Given the description of an element on the screen output the (x, y) to click on. 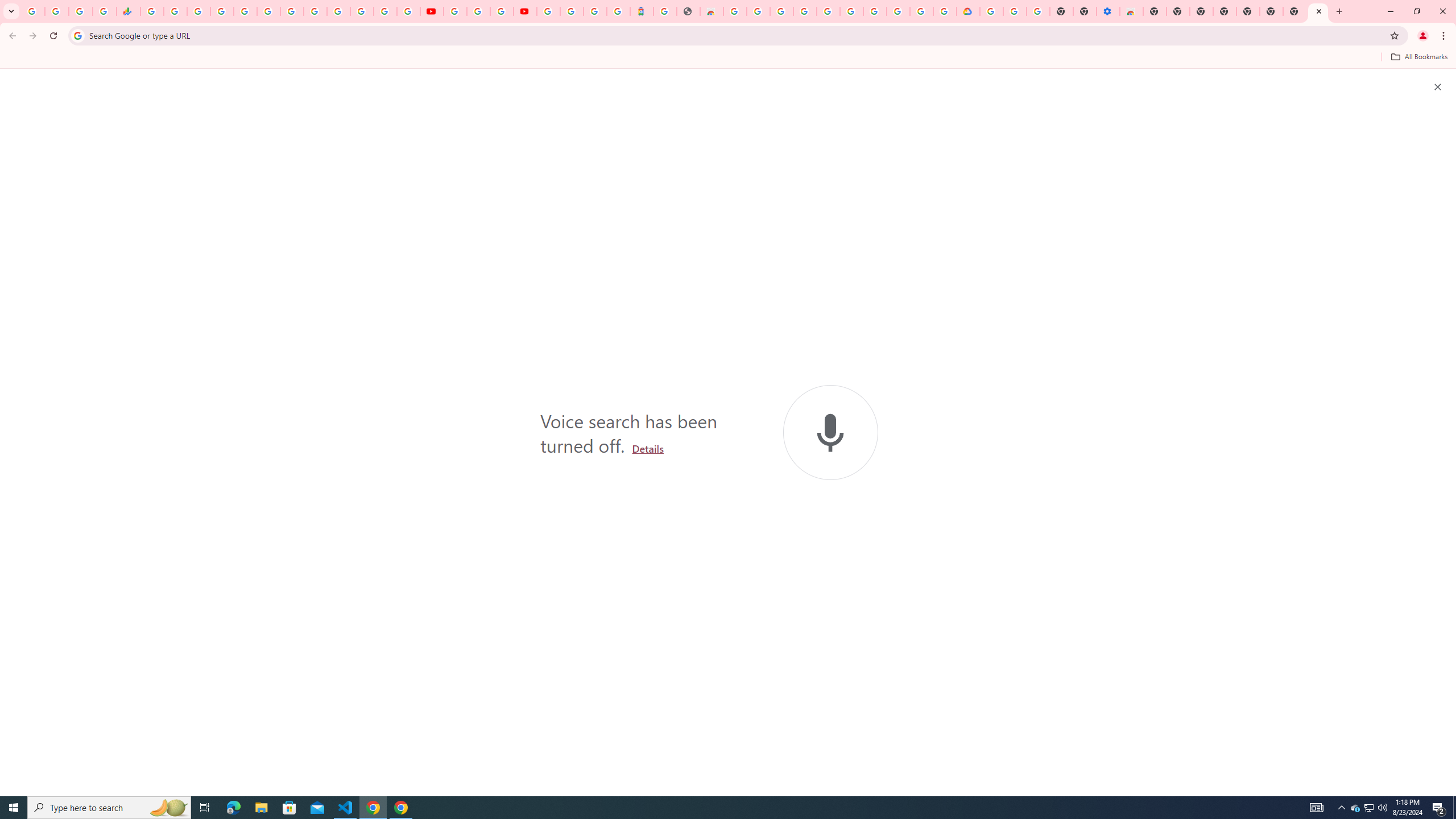
Bookmarks (728, 58)
Android TV Policies and Guidelines - Transparency Center (291, 11)
Sign in - Google Accounts (338, 11)
Chrome Web Store - Household (711, 11)
Atour Hotel - Google hotels (641, 11)
New Tab (1318, 11)
